Given the description of an element on the screen output the (x, y) to click on. 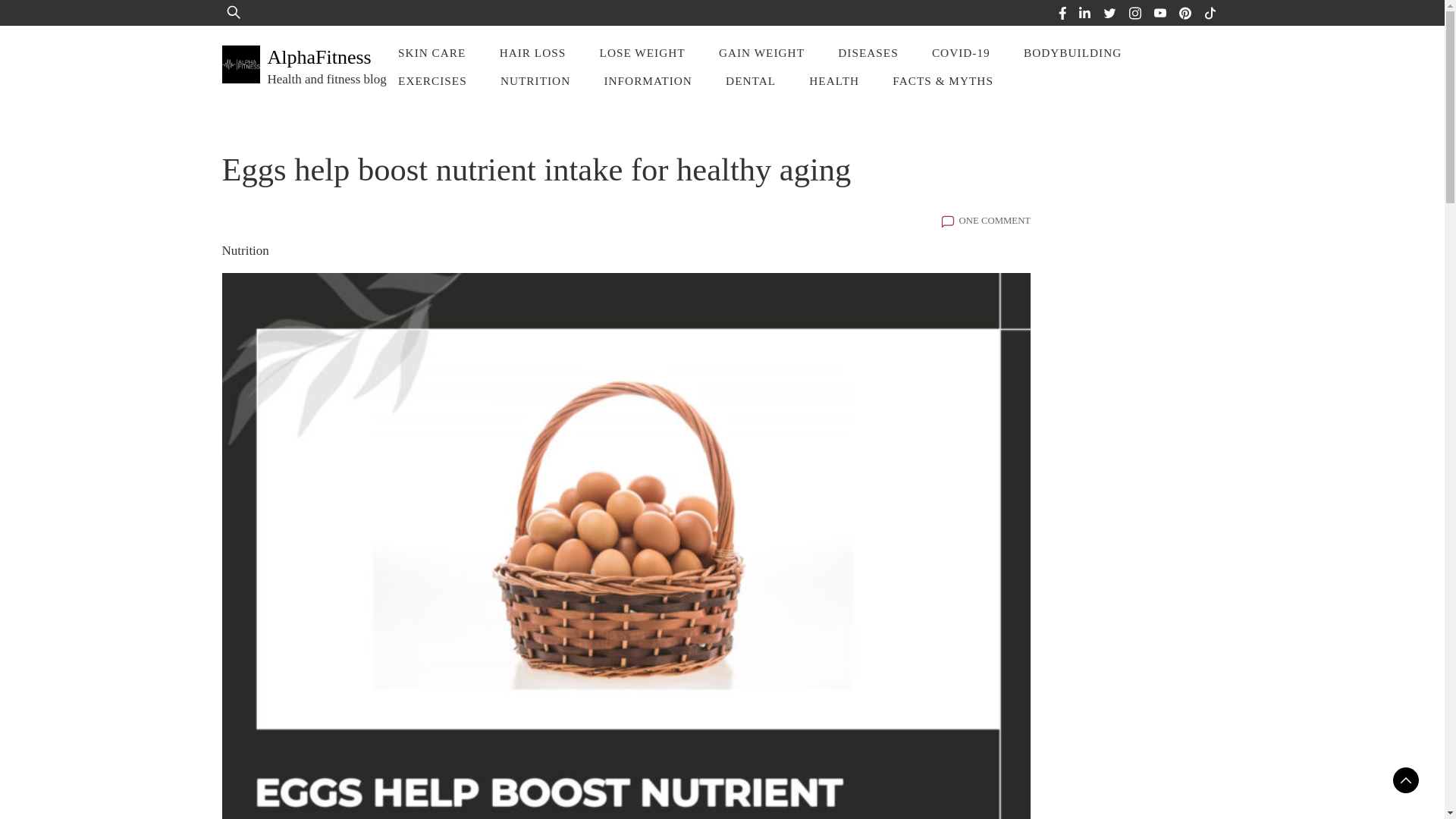
SKIN CARE (431, 52)
HAIR LOSS (532, 52)
GAIN WEIGHT (761, 52)
AlphaFitness (318, 56)
EXERCISES (431, 80)
BODYBUILDING (1073, 52)
LOSE WEIGHT (642, 52)
COVID-19 (961, 52)
Search (58, 22)
DISEASES (867, 52)
